Given the description of an element on the screen output the (x, y) to click on. 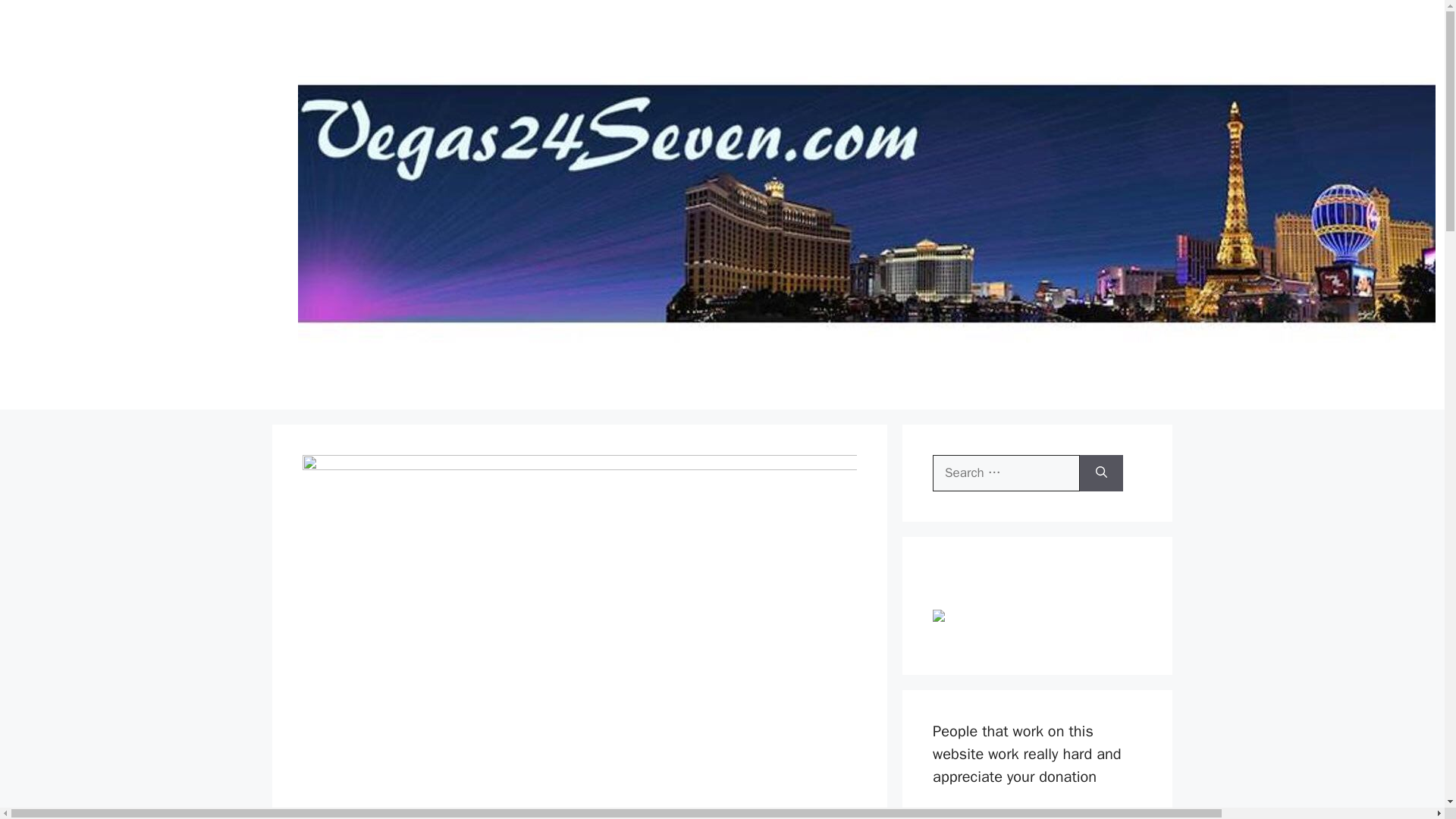
Search for: (1006, 473)
Vegas24Seven.com (1452, 204)
